Given the description of an element on the screen output the (x, y) to click on. 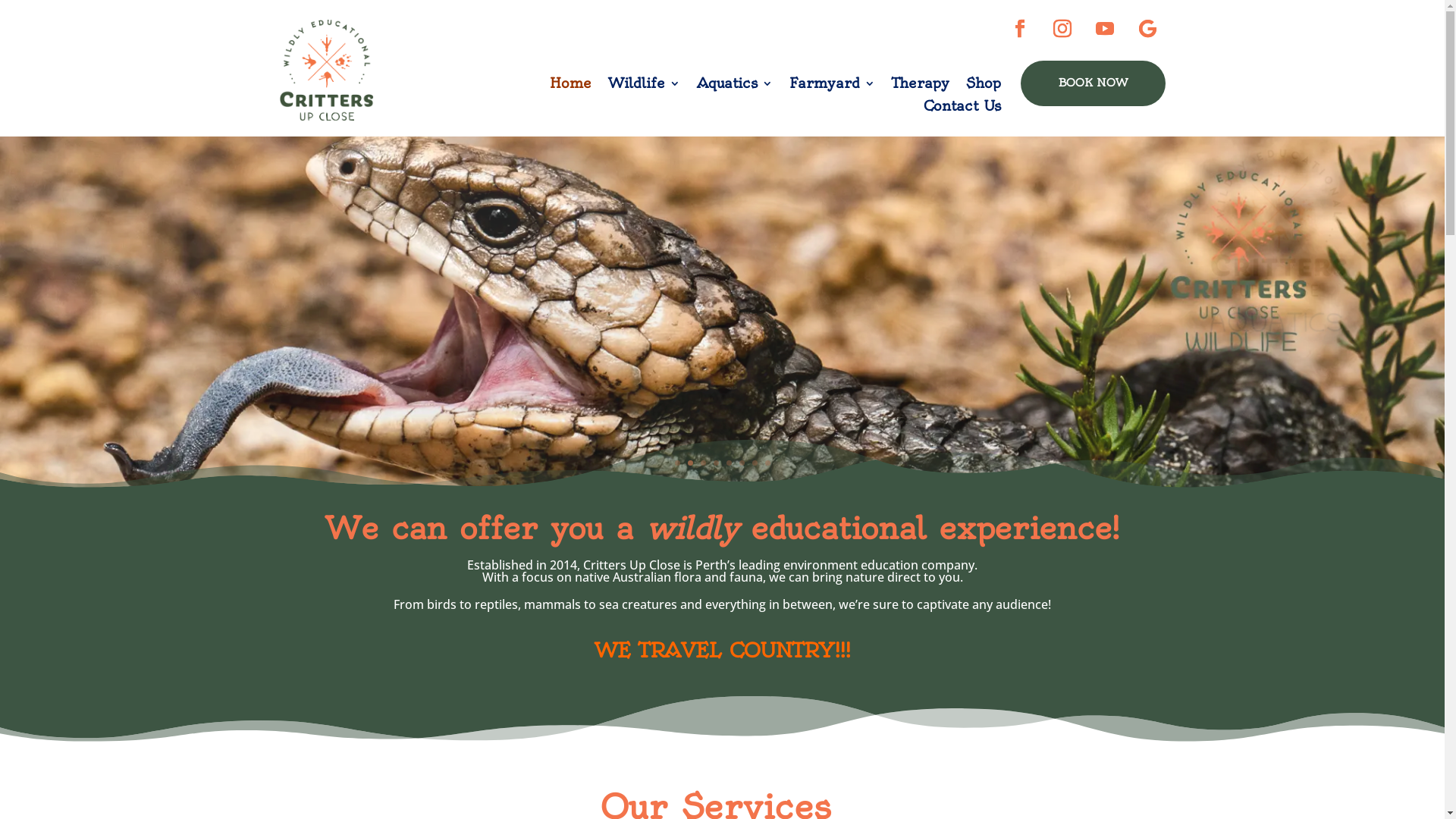
7 Element type: text (754, 462)
Contact Us Element type: text (962, 108)
1 Element type: text (677, 462)
Therapy Element type: text (920, 86)
Follow on Facebook Element type: hover (1019, 28)
Follow on Instagram Element type: hover (1062, 28)
4 Element type: text (715, 462)
BOOK NOW Element type: text (1092, 83)
5 Element type: text (728, 462)
Farmyard Element type: text (832, 86)
8 Element type: text (766, 462)
6 Element type: text (740, 462)
Wildlife Element type: text (644, 86)
Aquatics Element type: text (734, 86)
Shop Element type: text (983, 86)
Follow on Google Element type: hover (1147, 28)
Home Element type: text (570, 86)
critters-up-close-logo Element type: hover (326, 69)
Follow on Youtube Element type: hover (1104, 28)
2 Element type: text (689, 462)
3 Element type: text (703, 462)
